Given the description of an element on the screen output the (x, y) to click on. 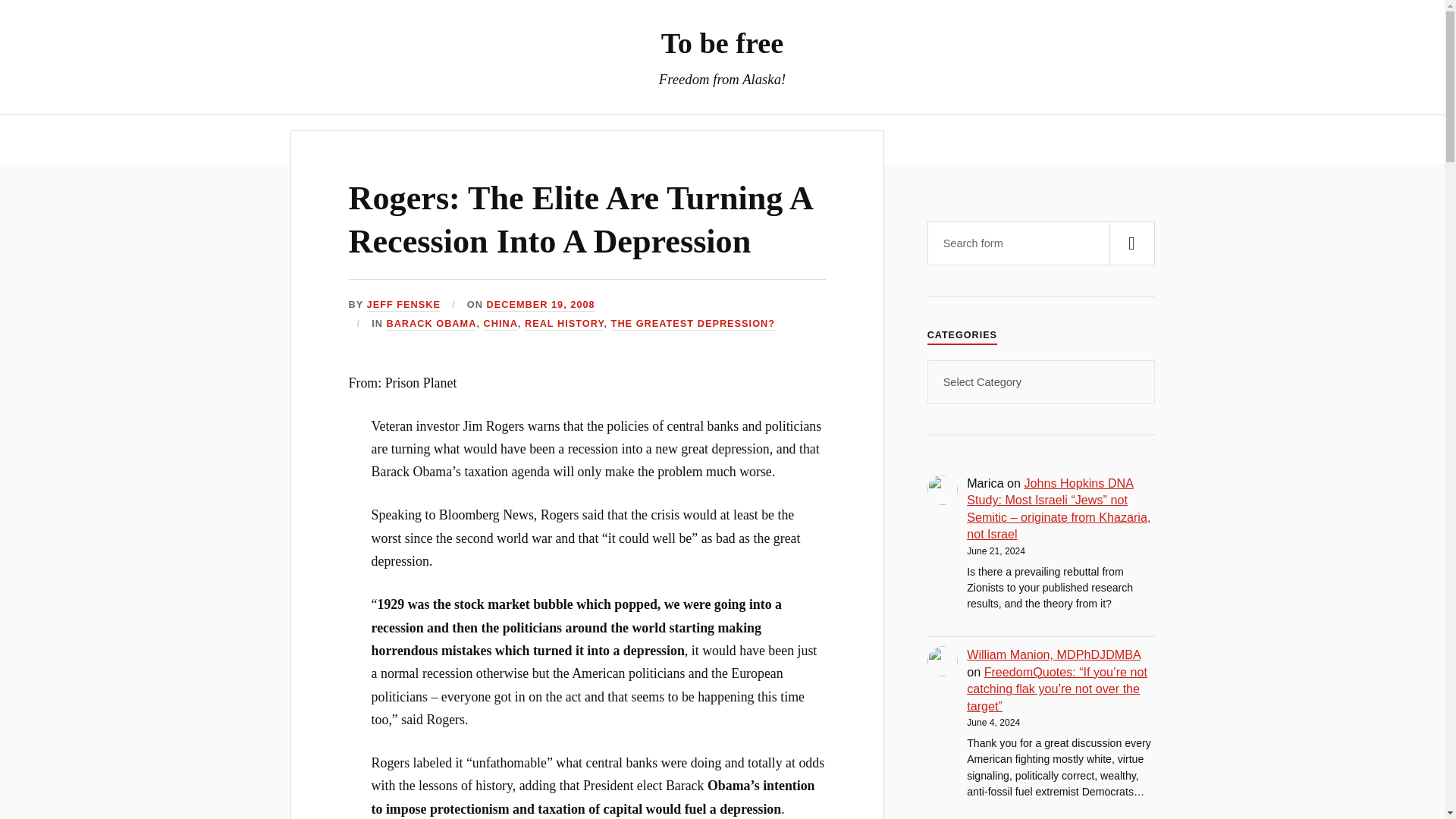
BARACK OBAMA (430, 323)
William Manion, MDPhDJDMBA (1053, 653)
Posts by Jeff Fenske (403, 305)
Rogers: The Elite Are Turning A Recession Into A Depression (580, 219)
To be free (722, 42)
THE GREATEST DEPRESSION? (692, 323)
About Jeff Fenske (671, 138)
DECEMBER 19, 2008 (540, 305)
CHINA (499, 323)
REAL HISTORY (564, 323)
JEFF FENSKE (403, 305)
